Given the description of an element on the screen output the (x, y) to click on. 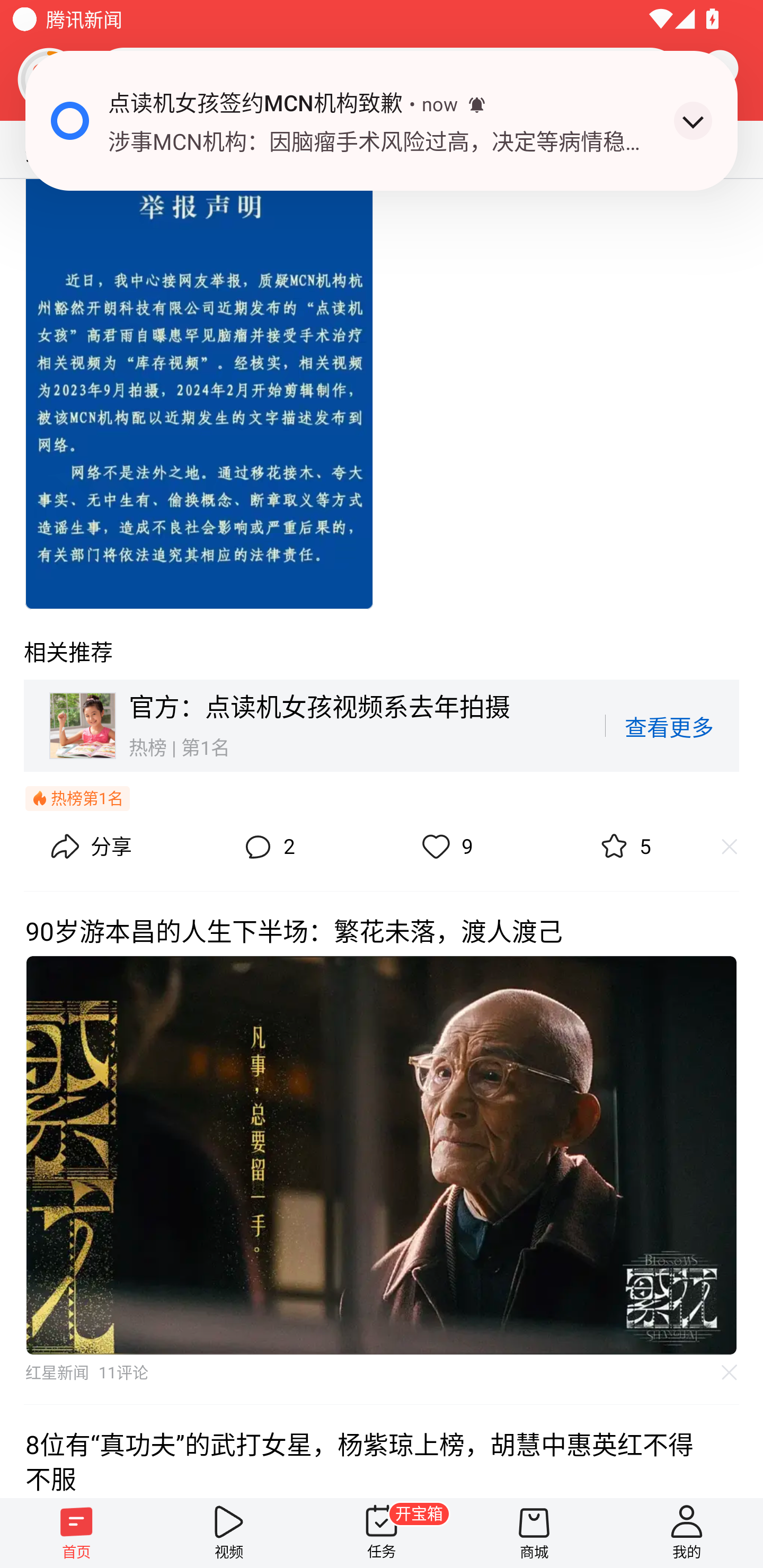
官方：点读机女孩视频系去年拍摄:热榜 | 第1名:查看更多:按钮 (381, 724)
分享 (88, 847)
评论,2 2 (266, 847)
收藏,5 5 (622, 847)
减少此类内容推荐 (737, 846)
90岁游本昌的人生下半场：繁花未落，渡人渡己 作者为  红星新闻  11评论   不感兴趣 (381, 1148)
不感兴趣 (729, 1371)
首页 (76, 1532)
视频 (228, 1532)
任务 开宝箱 (381, 1532)
商城 (533, 1532)
我的 (686, 1532)
